Given the description of an element on the screen output the (x, y) to click on. 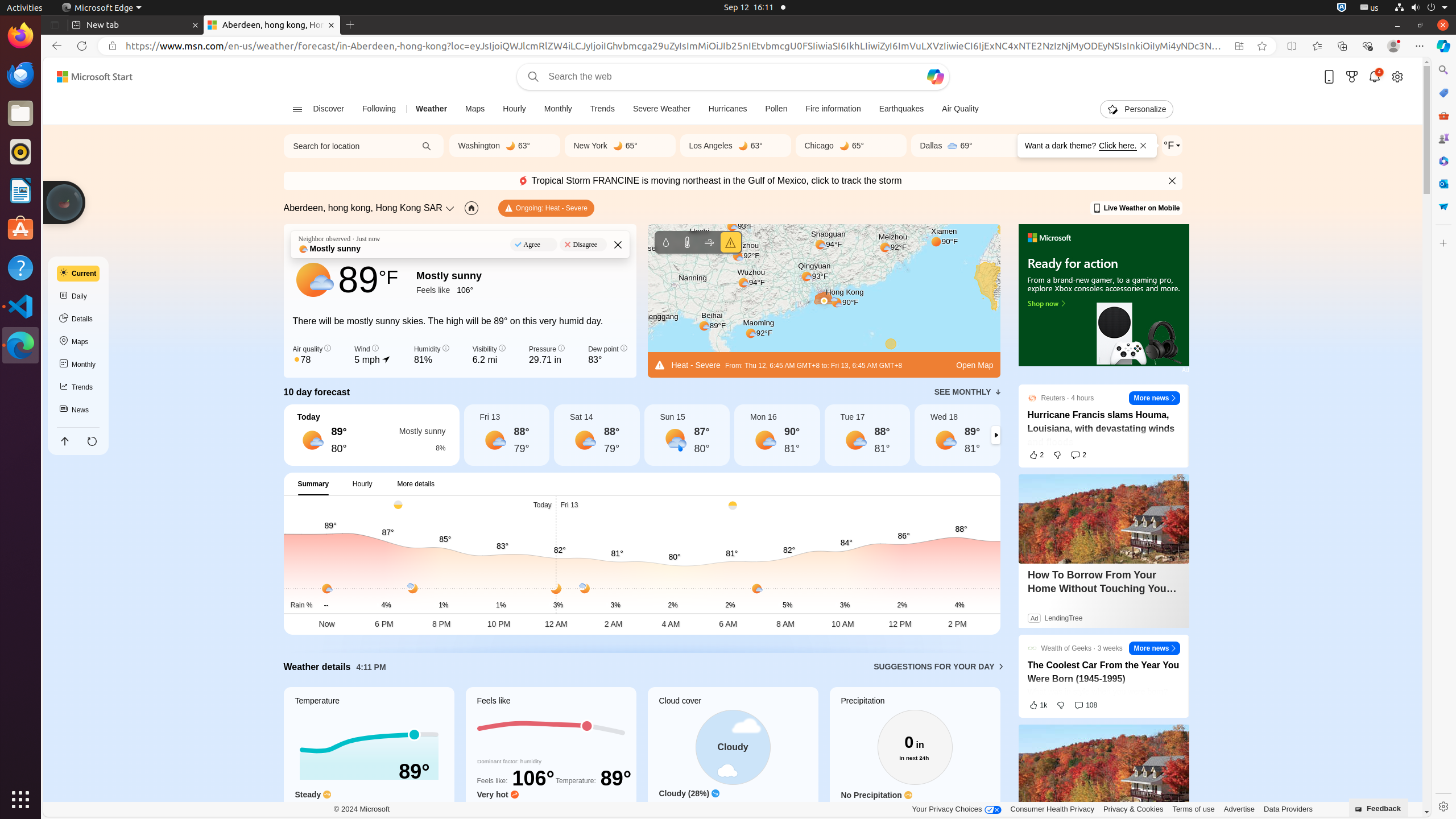
Decreasing with clear sky at 5:00 PM. Mostly clear sky expected in the evening. Element type: link (732, 809)
Maps Element type: push-button (78, 341)
Visibility 6.2 mi Element type: link (488, 355)
New Tab Element type: push-button (350, 25)
Consumer Health Privacy Element type: link (1052, 808)
